Given the description of an element on the screen output the (x, y) to click on. 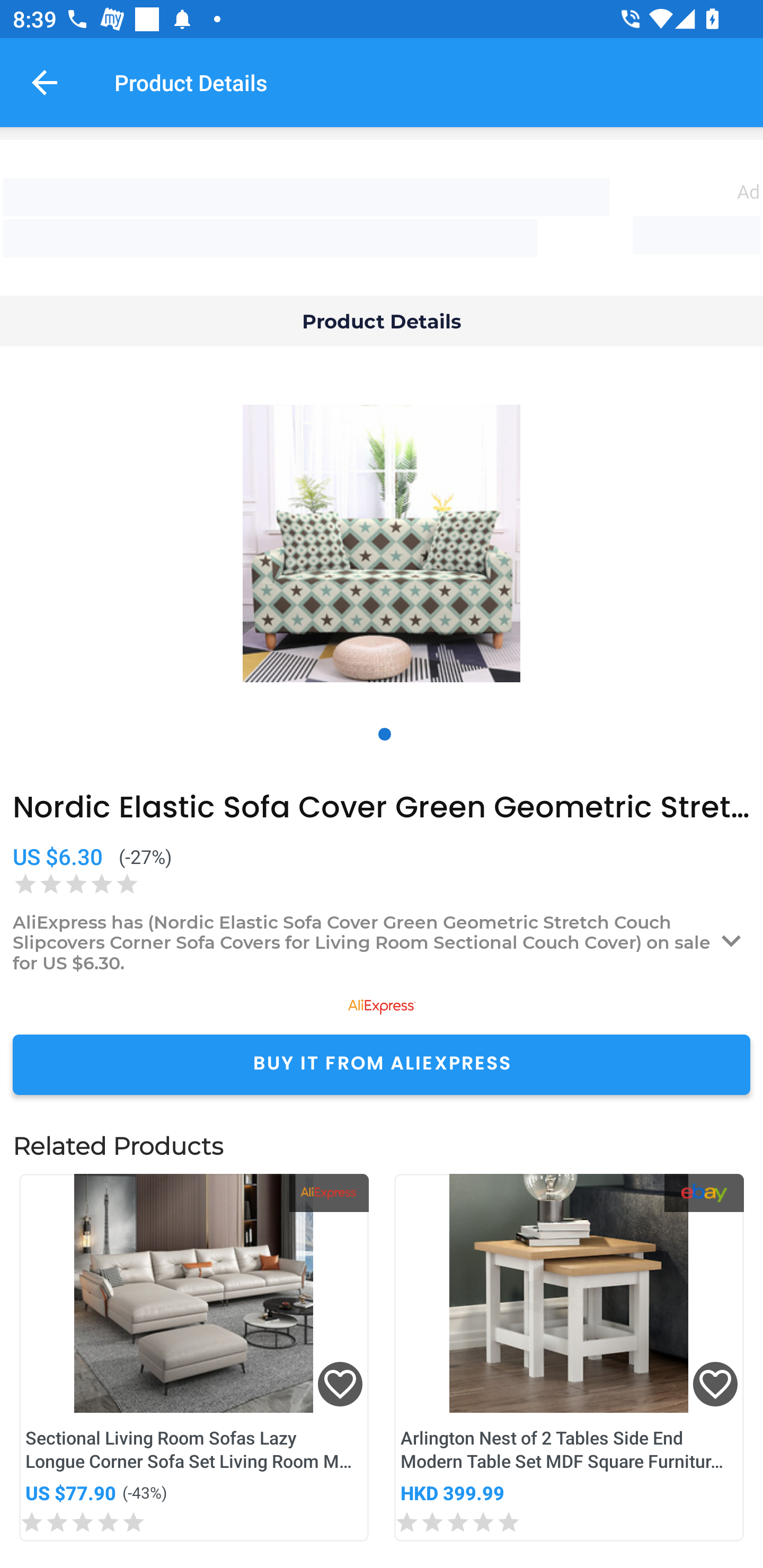
Navigate up (44, 82)
BUY IT FROM ALIEXPRESS (381, 1064)
